Given the description of an element on the screen output the (x, y) to click on. 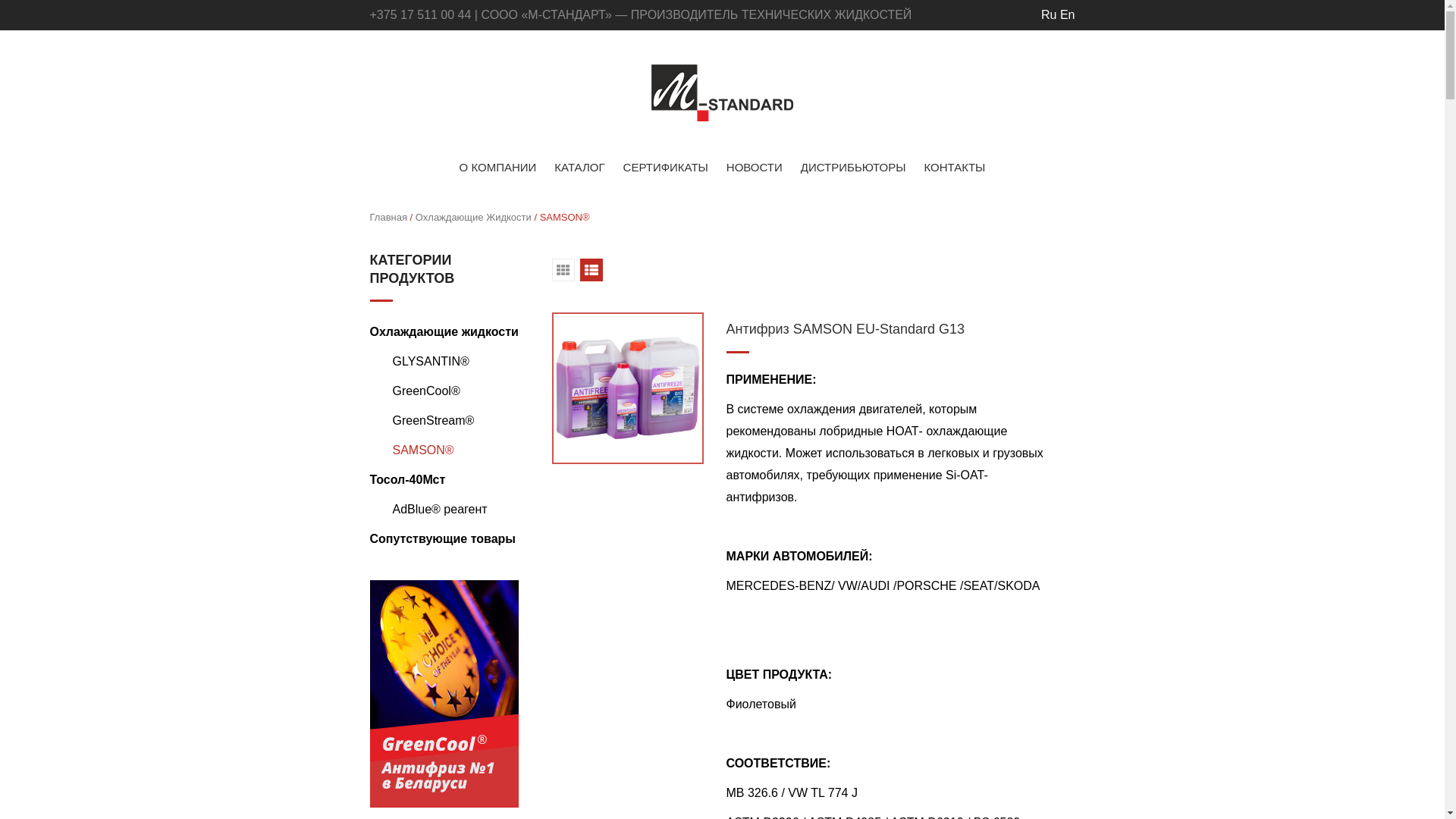
Ru Element type: text (1048, 14)
En Element type: text (1067, 14)
Grid Element type: hover (563, 269)
List Element type: hover (591, 269)
M-Standard Element type: hover (722, 91)
